Given the description of an element on the screen output the (x, y) to click on. 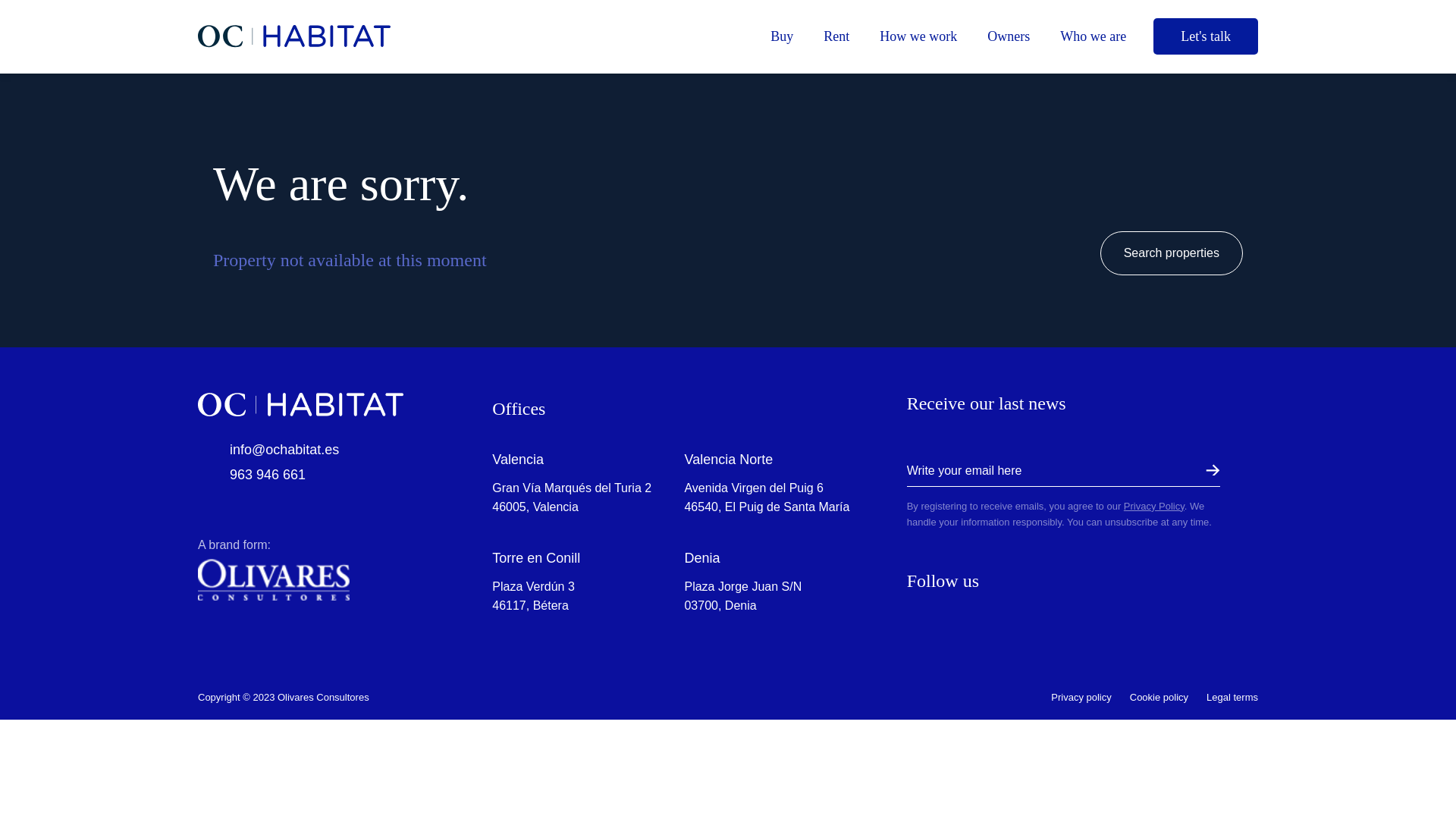
Who we are (1093, 36)
Cookie policy (1158, 697)
Let's talk (1205, 36)
Legal terms (1232, 697)
963 946 661 (310, 475)
Owners (1008, 36)
Rent (836, 36)
Search properties (1171, 252)
Buy (781, 36)
How we work (918, 36)
Privacy Policy (1154, 505)
Privacy policy (1080, 697)
